Given the description of an element on the screen output the (x, y) to click on. 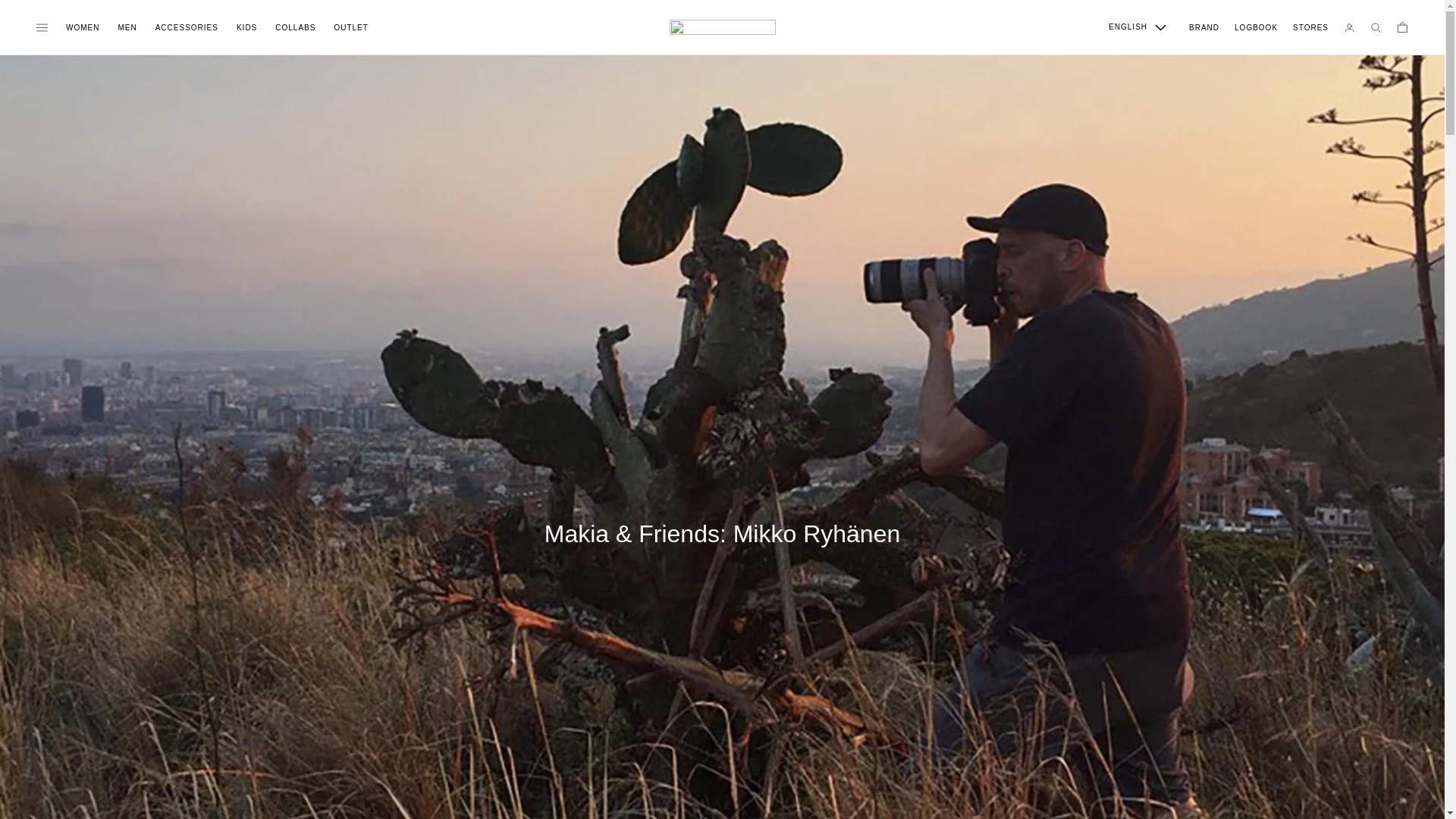
BRAND (1204, 27)
Kids (246, 27)
Open cart (1401, 27)
Logbook (1256, 27)
OUTLET (350, 27)
ENGLISH (1137, 27)
Brand (1204, 27)
Open account page (1349, 27)
Women (82, 27)
Open search (1375, 27)
